Given the description of an element on the screen output the (x, y) to click on. 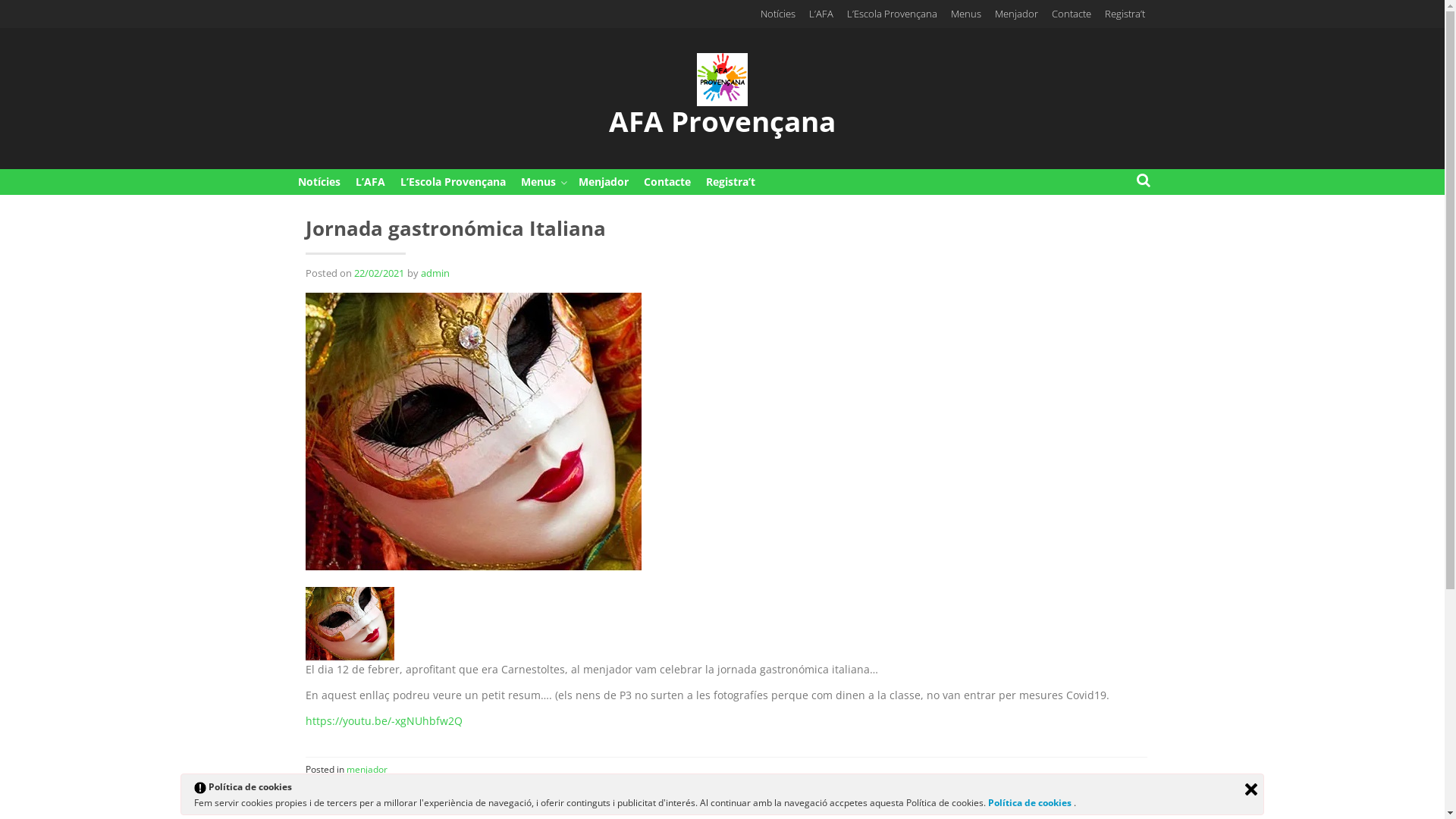
Menus Element type: text (964, 13)
Menjador Element type: text (602, 181)
Buscar Element type: text (24, 9)
menjador Element type: text (365, 768)
22/02/2021 Element type: text (378, 272)
https://youtu.be/-xgNUhbfw2Q Element type: text (382, 720)
Cerrar Element type: hover (1251, 789)
Contacte Element type: text (666, 181)
Contacte Element type: text (1071, 13)
Menus Element type: text (541, 181)
Menjador Element type: text (1015, 13)
admin Element type: text (434, 272)
